Given the description of an element on the screen output the (x, y) to click on. 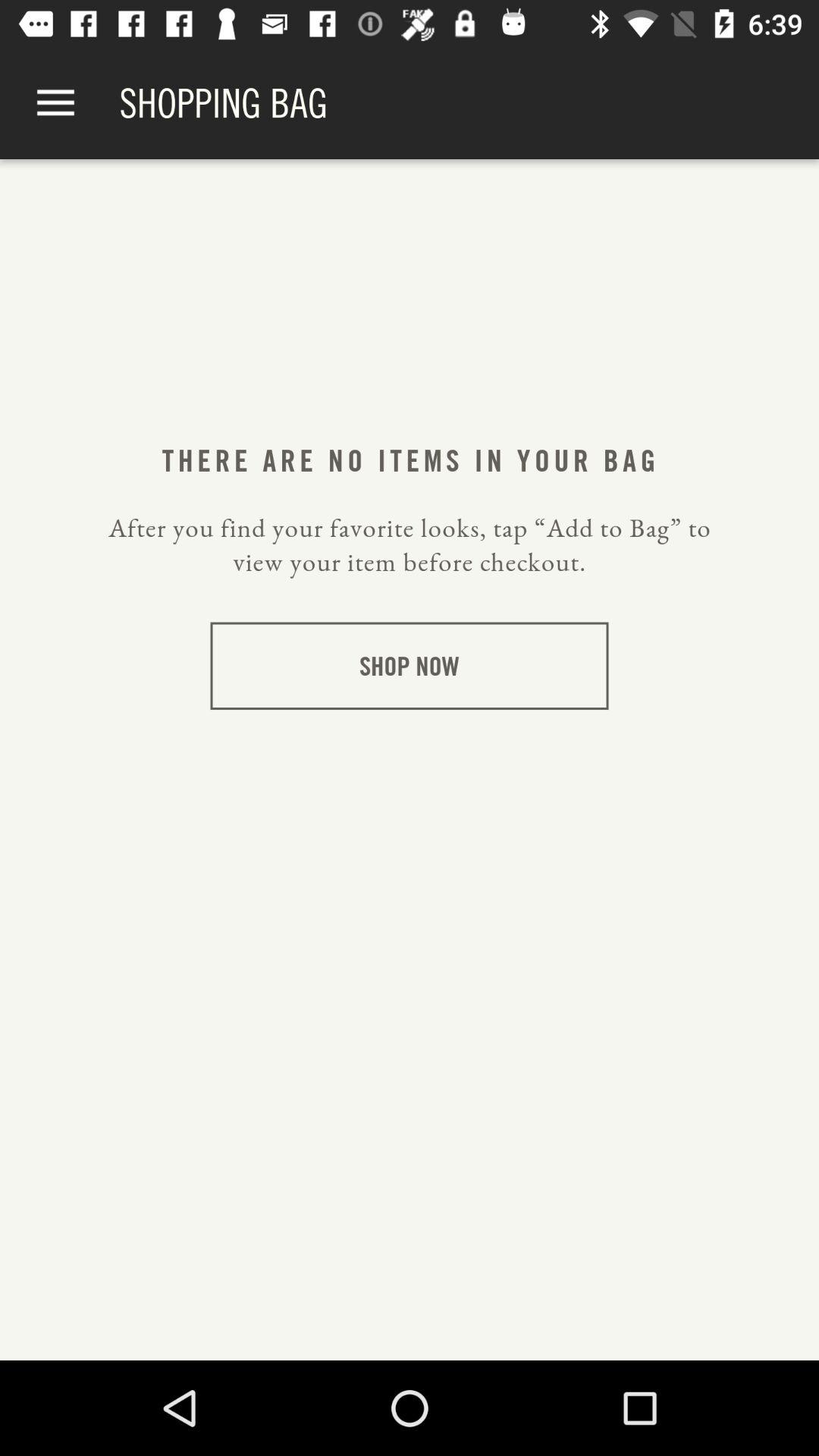
swipe to the there are no (409, 459)
